Given the description of an element on the screen output the (x, y) to click on. 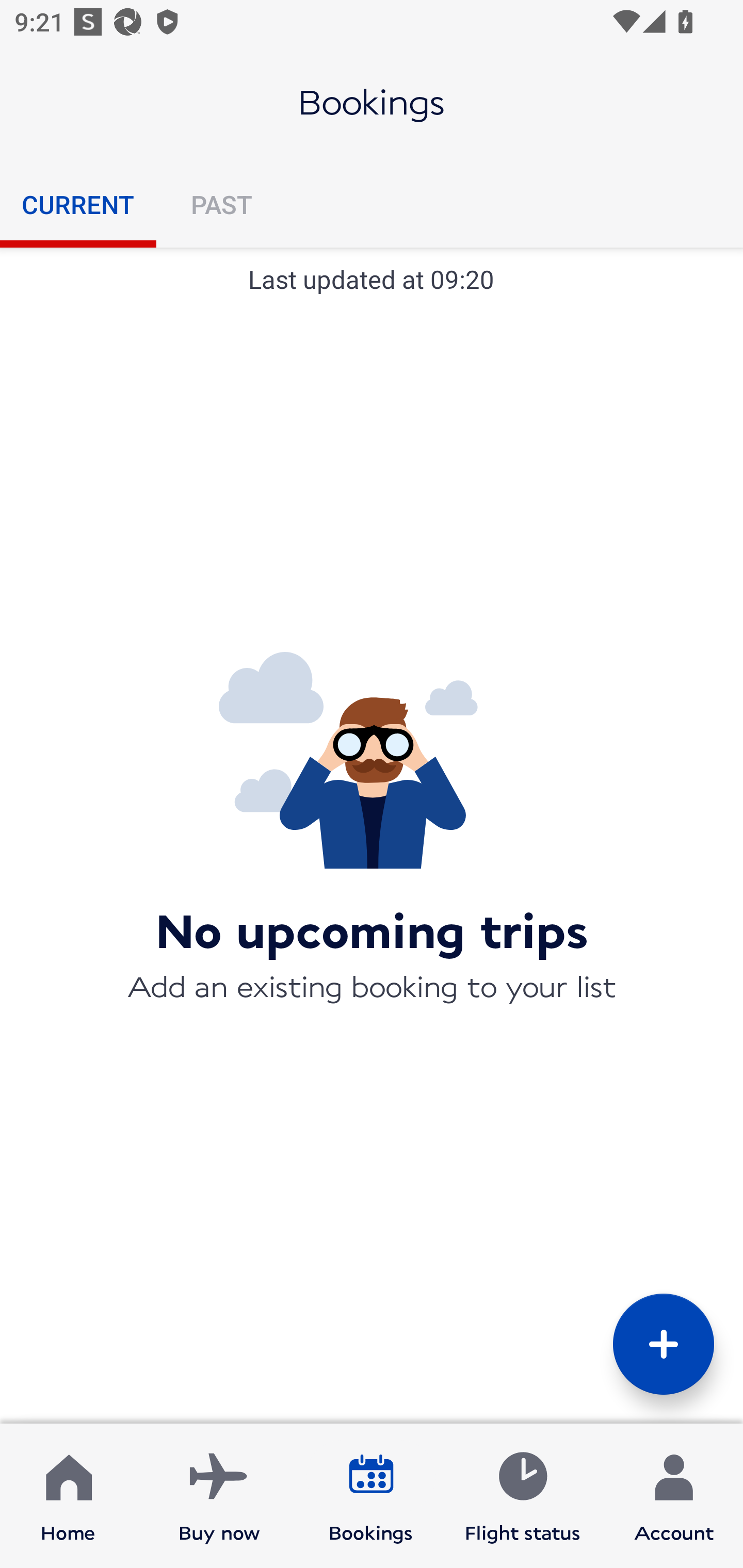
PAST (221, 204)
Home (68, 1495)
Buy now (219, 1495)
Flight status (522, 1495)
Account (674, 1495)
